Given the description of an element on the screen output the (x, y) to click on. 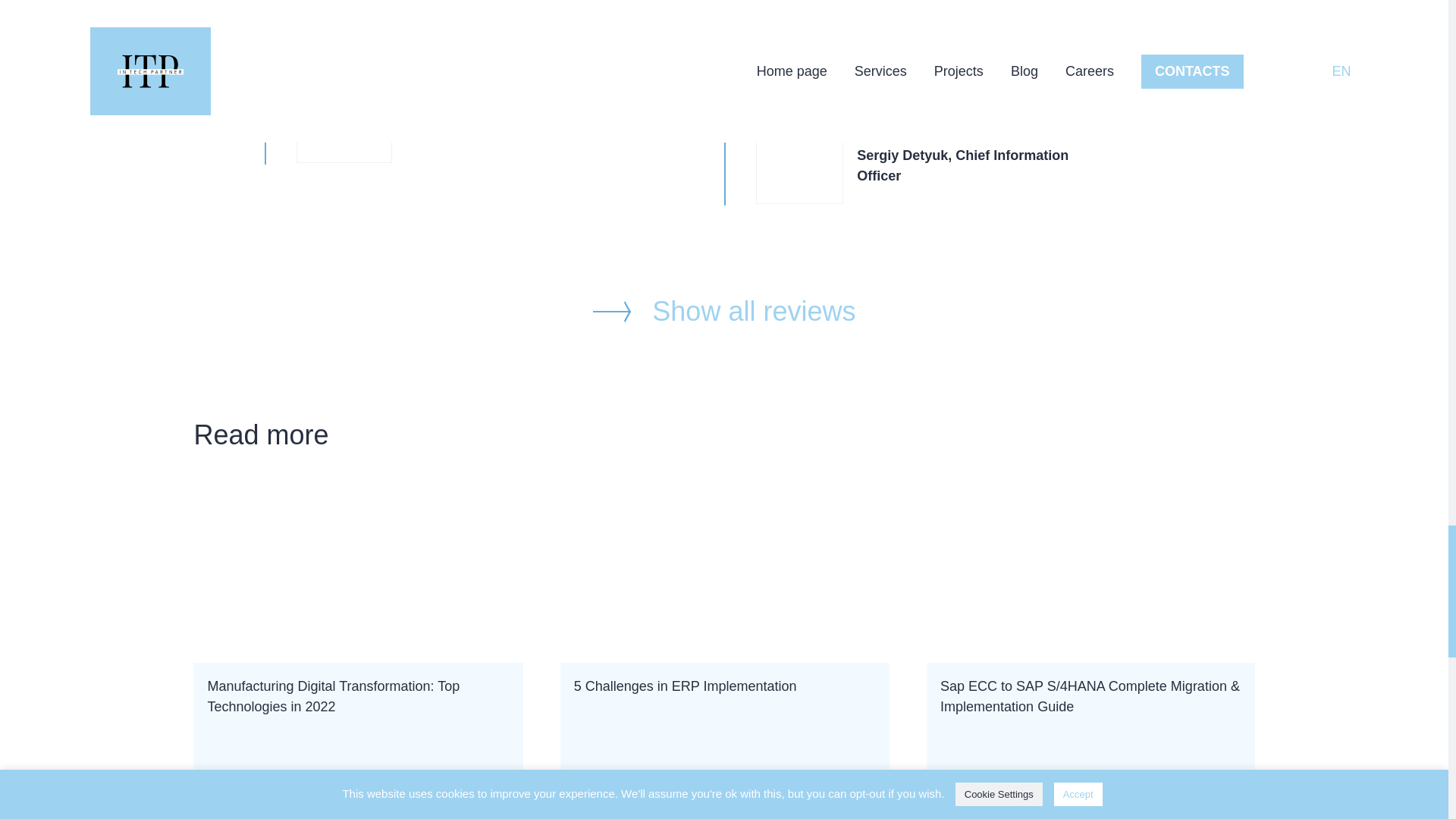
Show all reviews (724, 655)
